Given the description of an element on the screen output the (x, y) to click on. 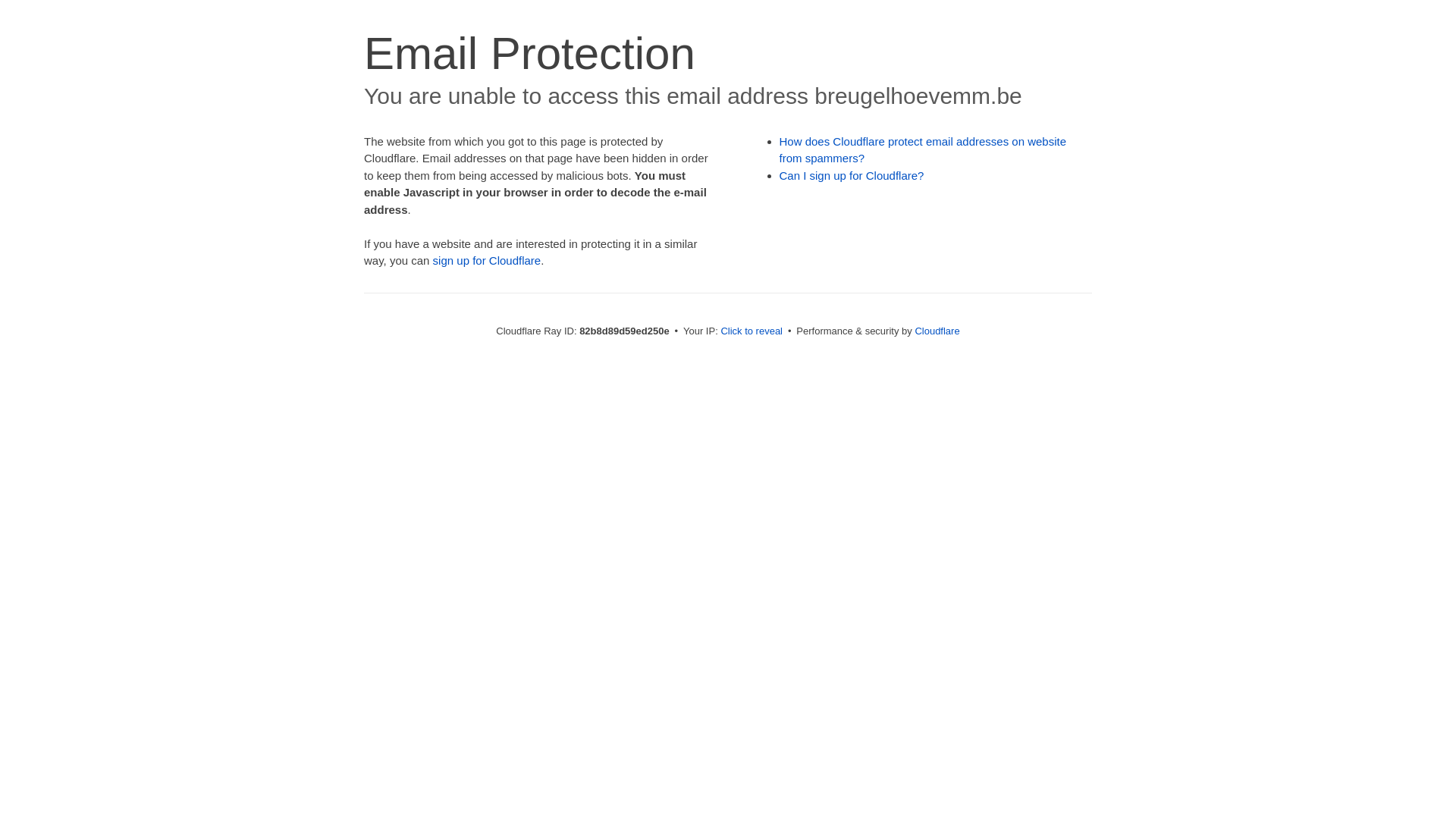
Click to reveal Element type: text (751, 330)
Can I sign up for Cloudflare? Element type: text (851, 175)
Cloudflare Element type: text (936, 330)
sign up for Cloudflare Element type: text (487, 260)
